Given the description of an element on the screen output the (x, y) to click on. 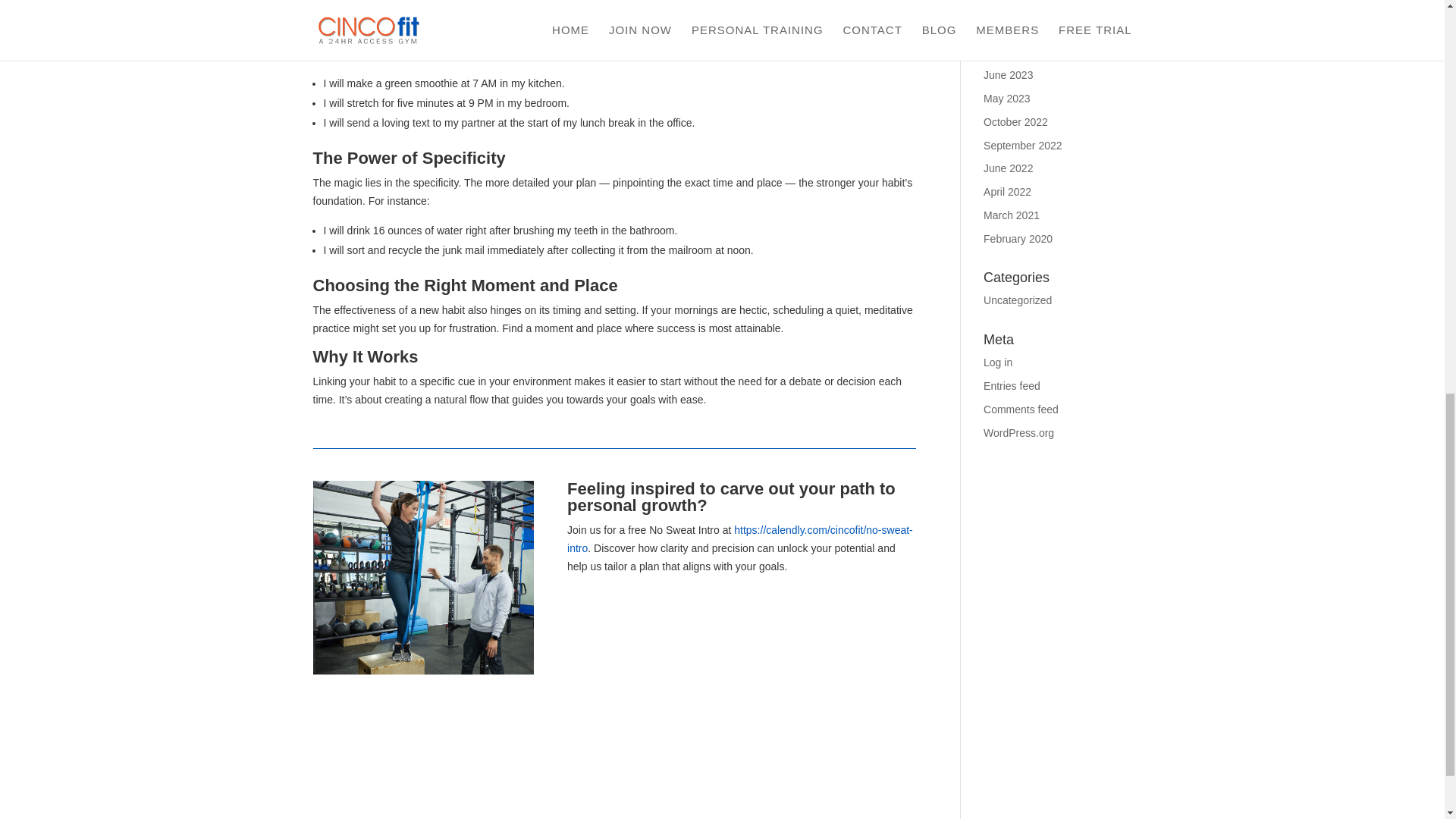
May 2023 (1006, 98)
5 (423, 590)
October 2022 (1016, 121)
July 2023 (1006, 51)
April 2022 (1007, 191)
June 2022 (1008, 168)
September 2022 (1023, 145)
June 2023 (1008, 74)
September 2023 (1023, 5)
March 2021 (1011, 215)
August 2023 (1013, 28)
